Given the description of an element on the screen output the (x, y) to click on. 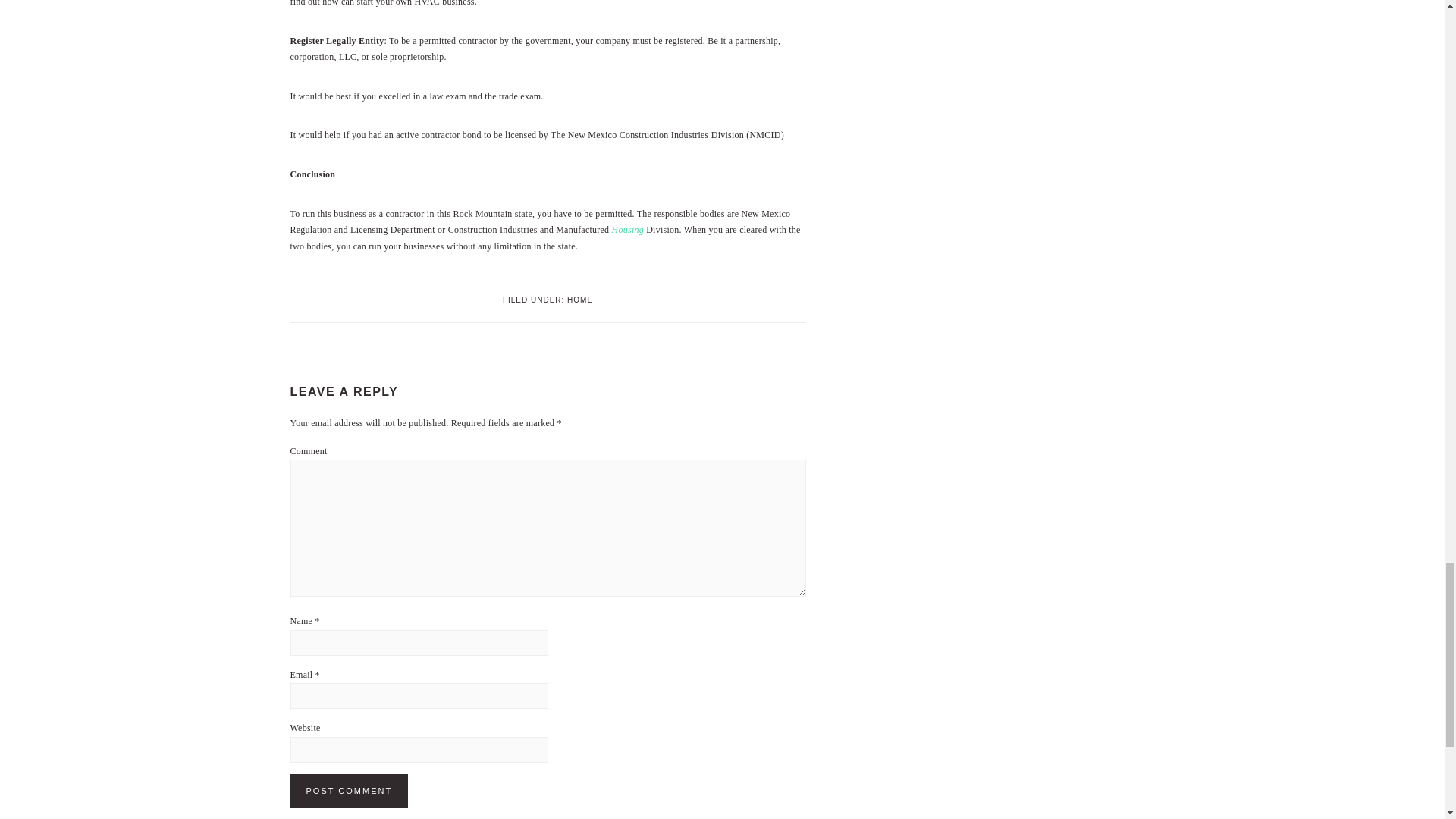
HOME (579, 299)
Post Comment (348, 790)
Housing (627, 229)
Post Comment (348, 790)
